Given the description of an element on the screen output the (x, y) to click on. 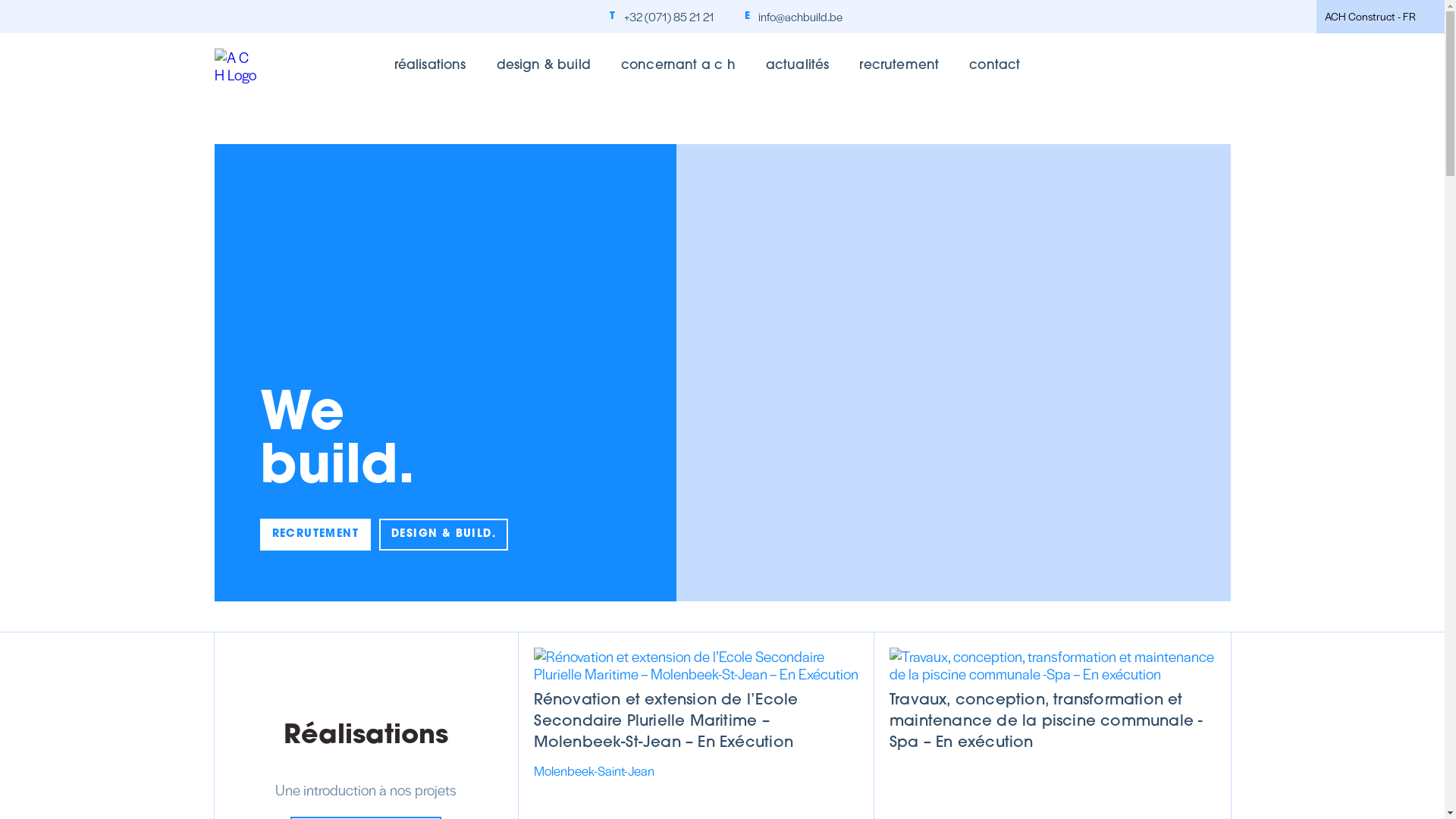
contact Element type: text (994, 65)
RECRUTEMENT Element type: text (314, 534)
DESIGN & BUILD. Element type: text (443, 534)
design & build Element type: text (543, 65)
recrutement Element type: text (898, 65)
concernant a c h Element type: text (678, 65)
info@achbuild.be Element type: text (800, 16)
A C H Logo Element type: hover (236, 65)
